Given the description of an element on the screen output the (x, y) to click on. 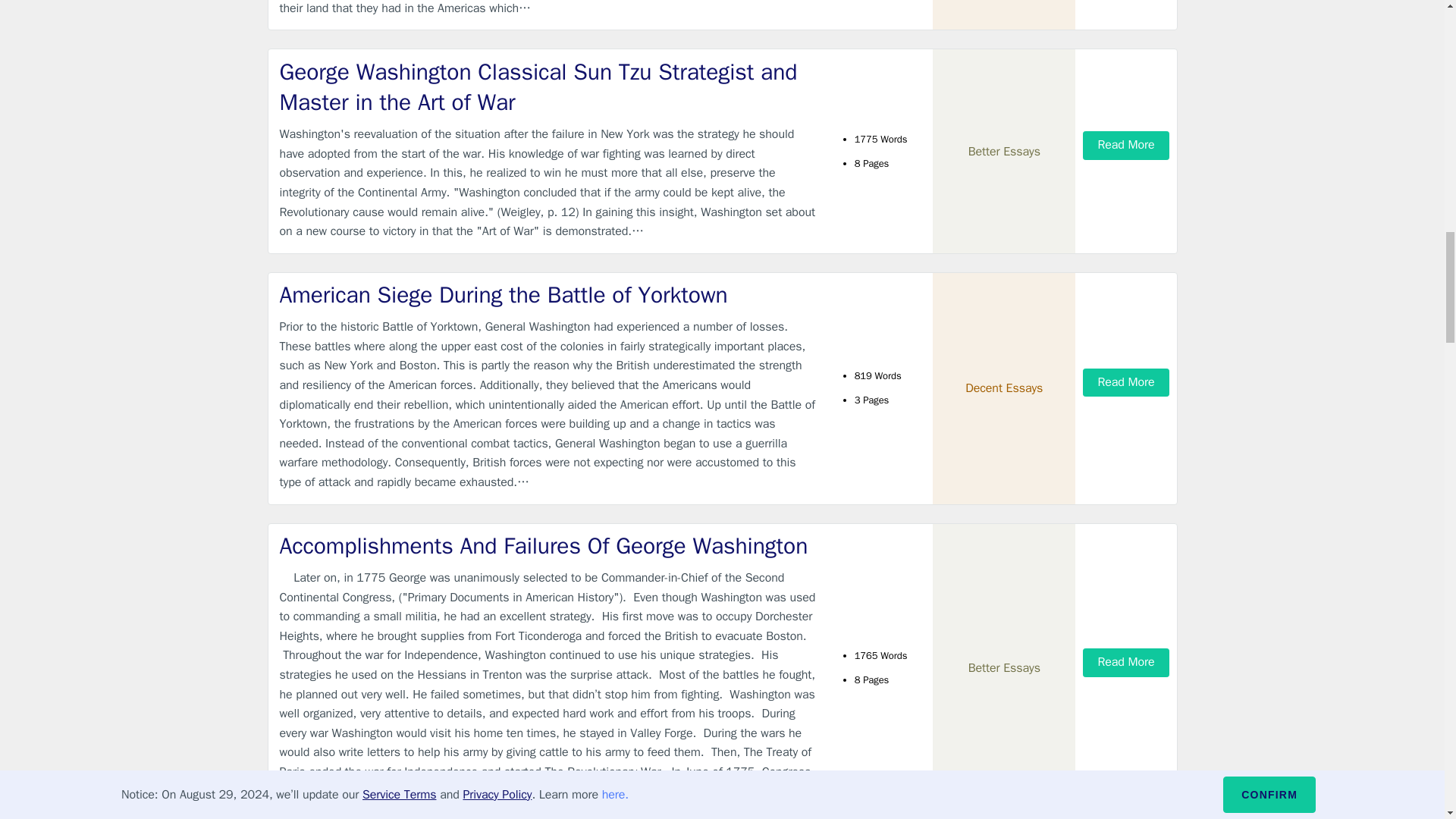
Read More (1126, 382)
Accomplishments And Failures Of George Washington (548, 545)
American Siege During the Battle of Yorktown (548, 295)
Read More (1126, 144)
Read More (1126, 662)
